Given the description of an element on the screen output the (x, y) to click on. 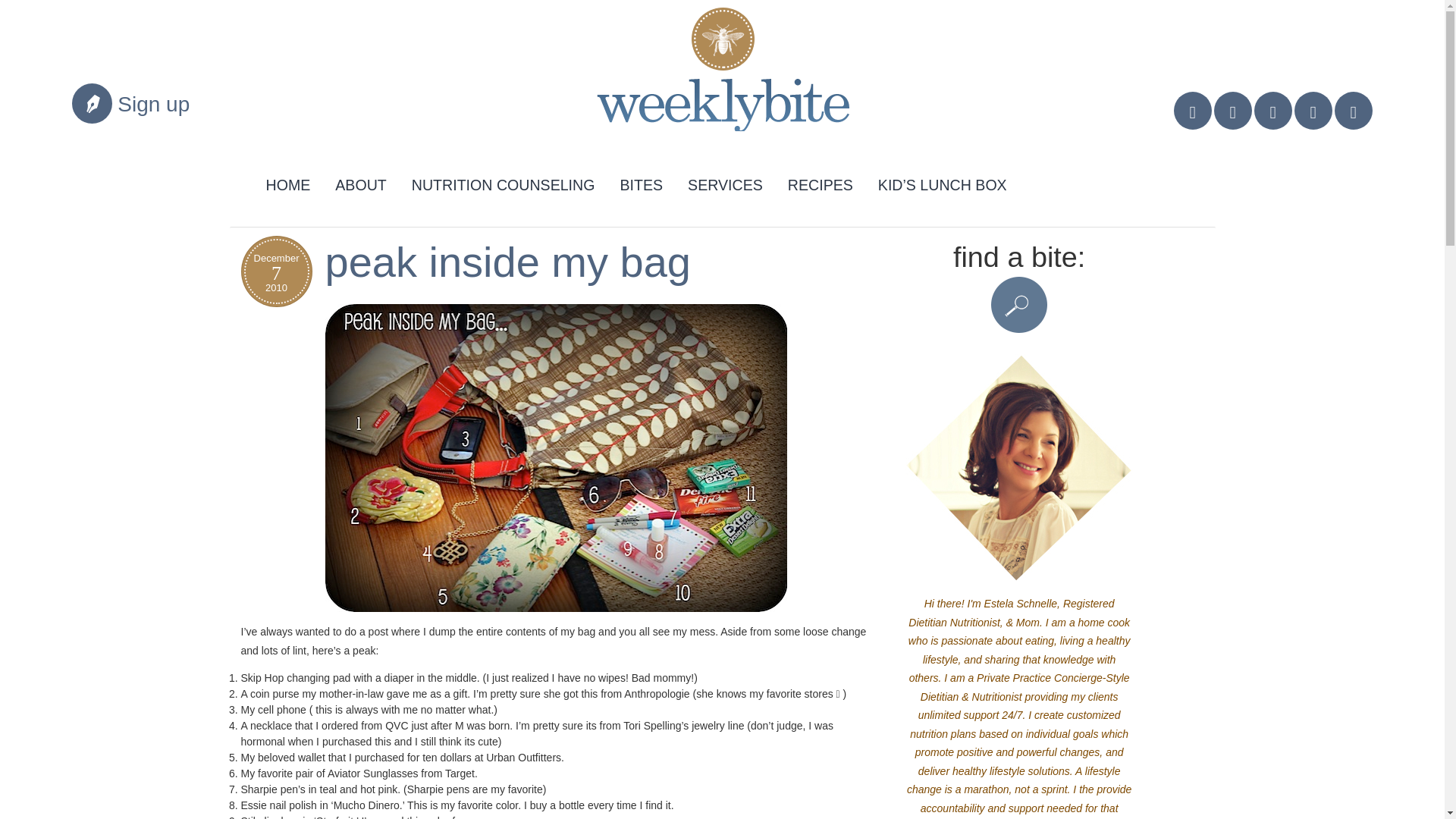
HOME (287, 181)
BITES (641, 181)
RECIPES (820, 181)
SERVICES (725, 181)
WeeklyBite (710, 76)
ABOUT (360, 181)
Sign up (153, 104)
NUTRITION COUNSELING (503, 181)
